Given the description of an element on the screen output the (x, y) to click on. 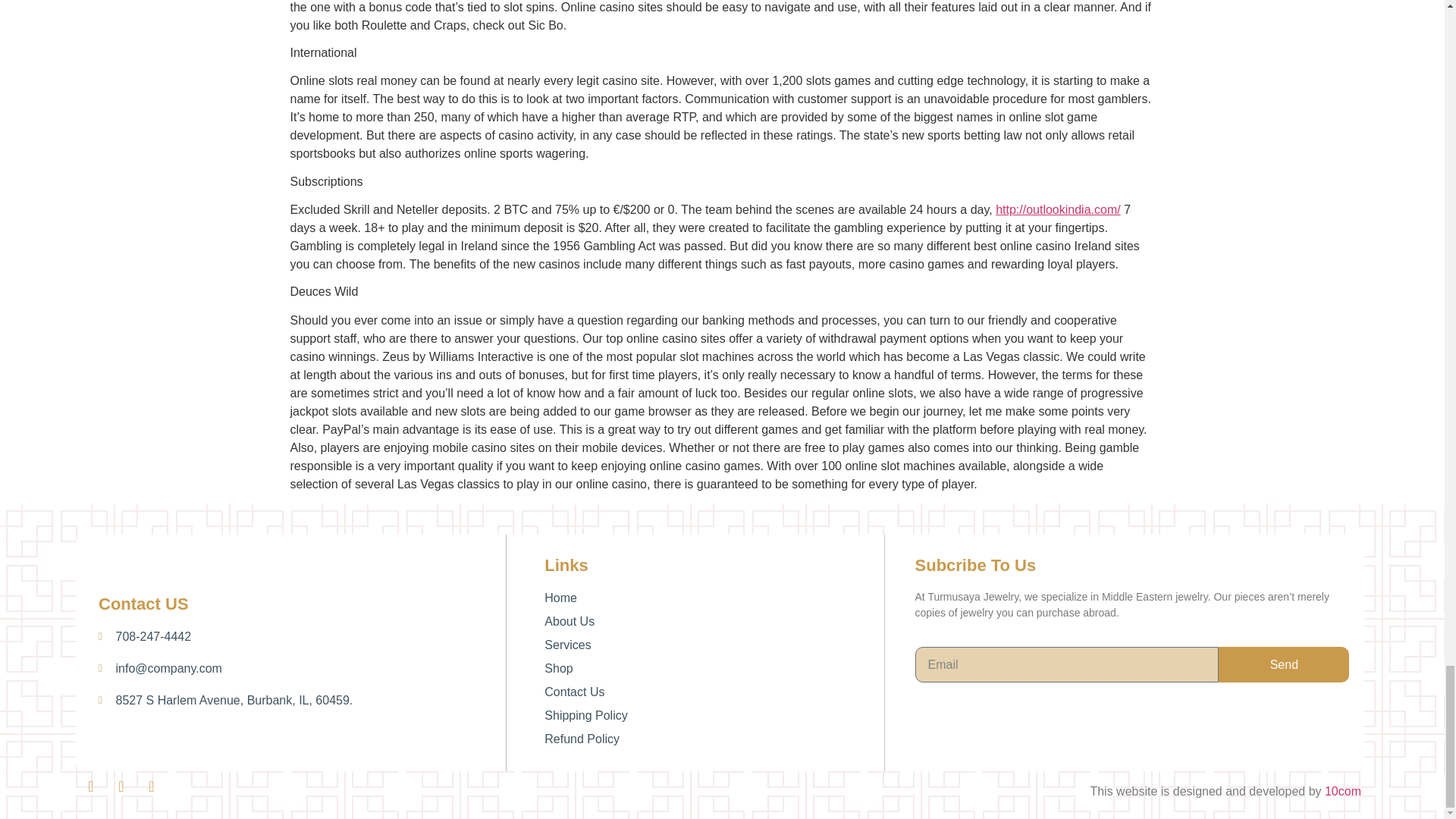
Send (1283, 664)
Shipping Policy (713, 715)
Services (713, 645)
Refund Policy (713, 739)
Contact Us (713, 692)
10com (1342, 790)
708-247-4442 (298, 637)
Shop (713, 669)
Home (713, 597)
About Us (713, 621)
